Given the description of an element on the screen output the (x, y) to click on. 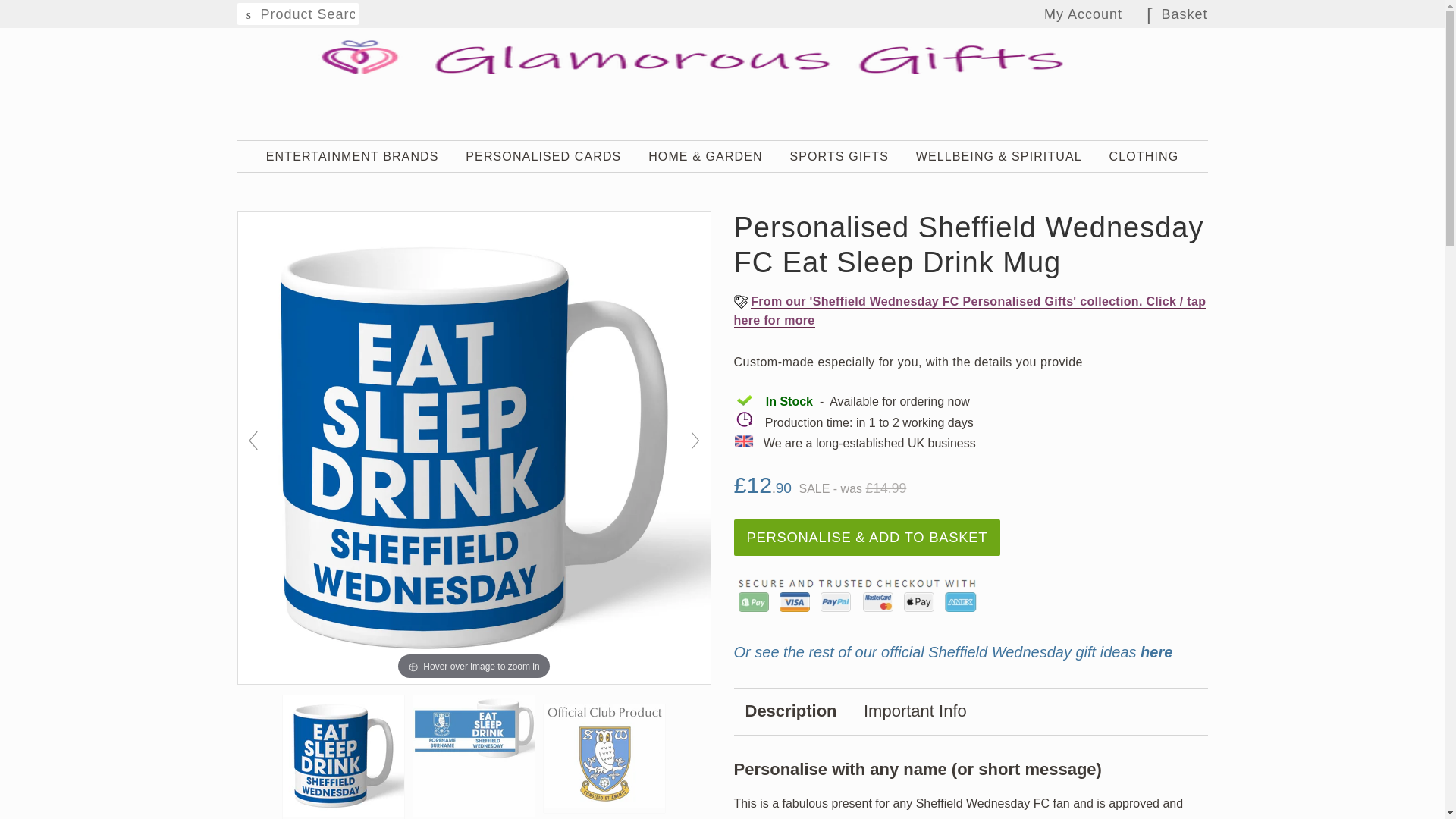
Basket (1183, 14)
My Account (1082, 14)
SEARCH (247, 15)
Personalised Sheffield Wednesday FC Eat Sleep Drink Mug (604, 758)
Personalised Sheffield Wednesday FC Eat Sleep Drink Mug (473, 757)
Personalised Sheffield Wednesday FC Eat Sleep Drink Mug (343, 757)
